Given the description of an element on the screen output the (x, y) to click on. 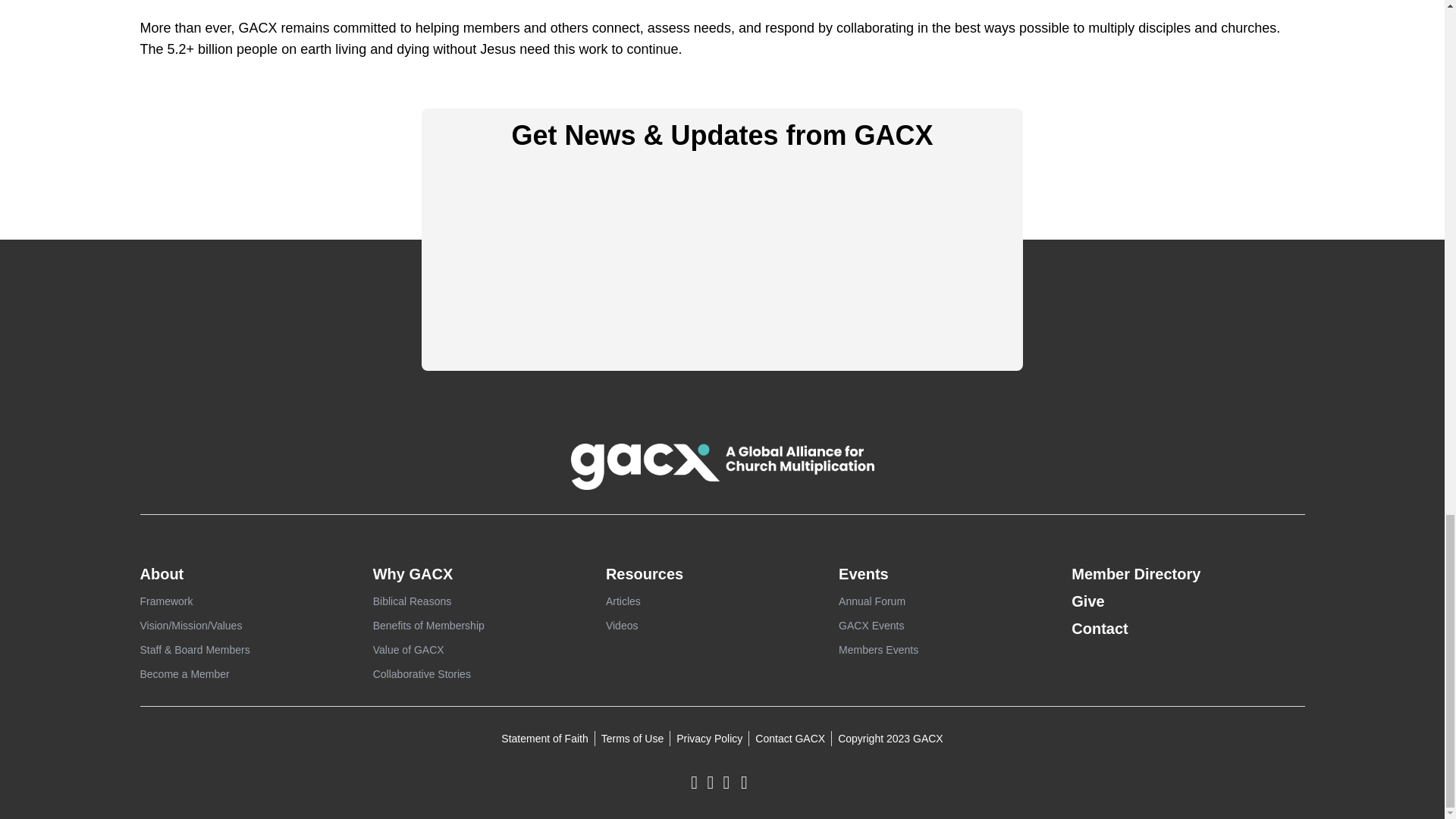
Form 0 (722, 260)
